Given the description of an element on the screen output the (x, y) to click on. 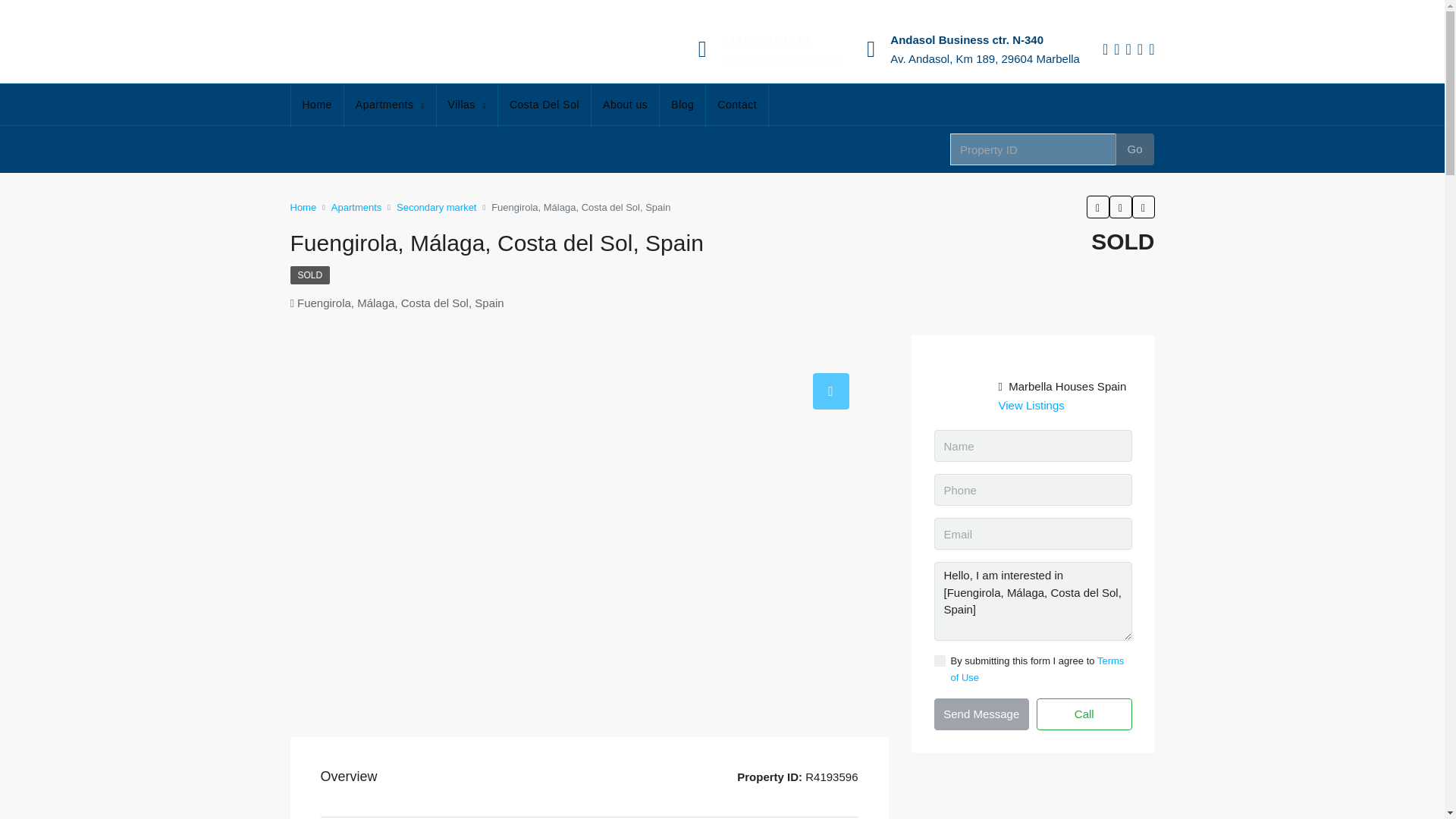
Villas (466, 105)
Home (317, 104)
About us (625, 104)
Costa Del Sol (544, 104)
Apartments (389, 105)
Contact (737, 104)
Blog (681, 104)
